Given the description of an element on the screen output the (x, y) to click on. 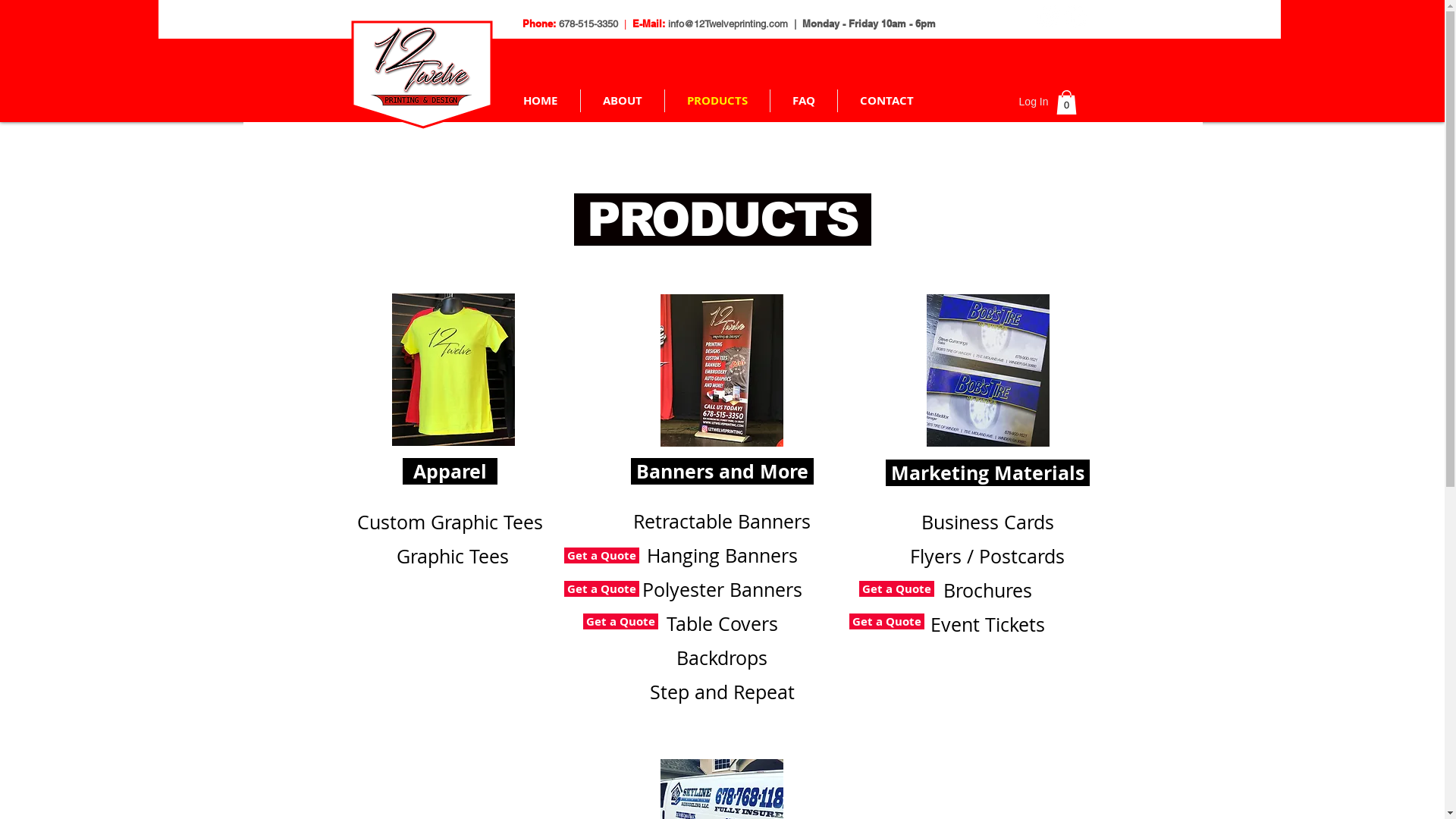
0 Element type: text (1065, 102)
PRODUCTS Element type: text (716, 100)
CONTACT Element type: text (886, 100)
Log In Element type: text (1033, 102)
ABOUT Element type: text (622, 100)
 Get a Quote  Element type: text (601, 588)
 Get a Quote  Element type: text (601, 554)
HOME Element type: text (539, 100)
info@12Twelveprinting.com Element type: text (727, 23)
 Graphic Tees Element type: text (449, 555)
Backdrops Element type: text (721, 657)
 Get a Quote  Element type: text (886, 620)
Custom Graphic Tees Element type: text (449, 521)
Flyers / Postcards Element type: text (987, 555)
 Get a Quote  Element type: text (896, 588)
Retractable Banners Element type: text (721, 520)
 Get a Quote  Element type: text (620, 620)
Business Cards Element type: text (986, 521)
FAQ Element type: text (803, 100)
